Given the description of an element on the screen output the (x, y) to click on. 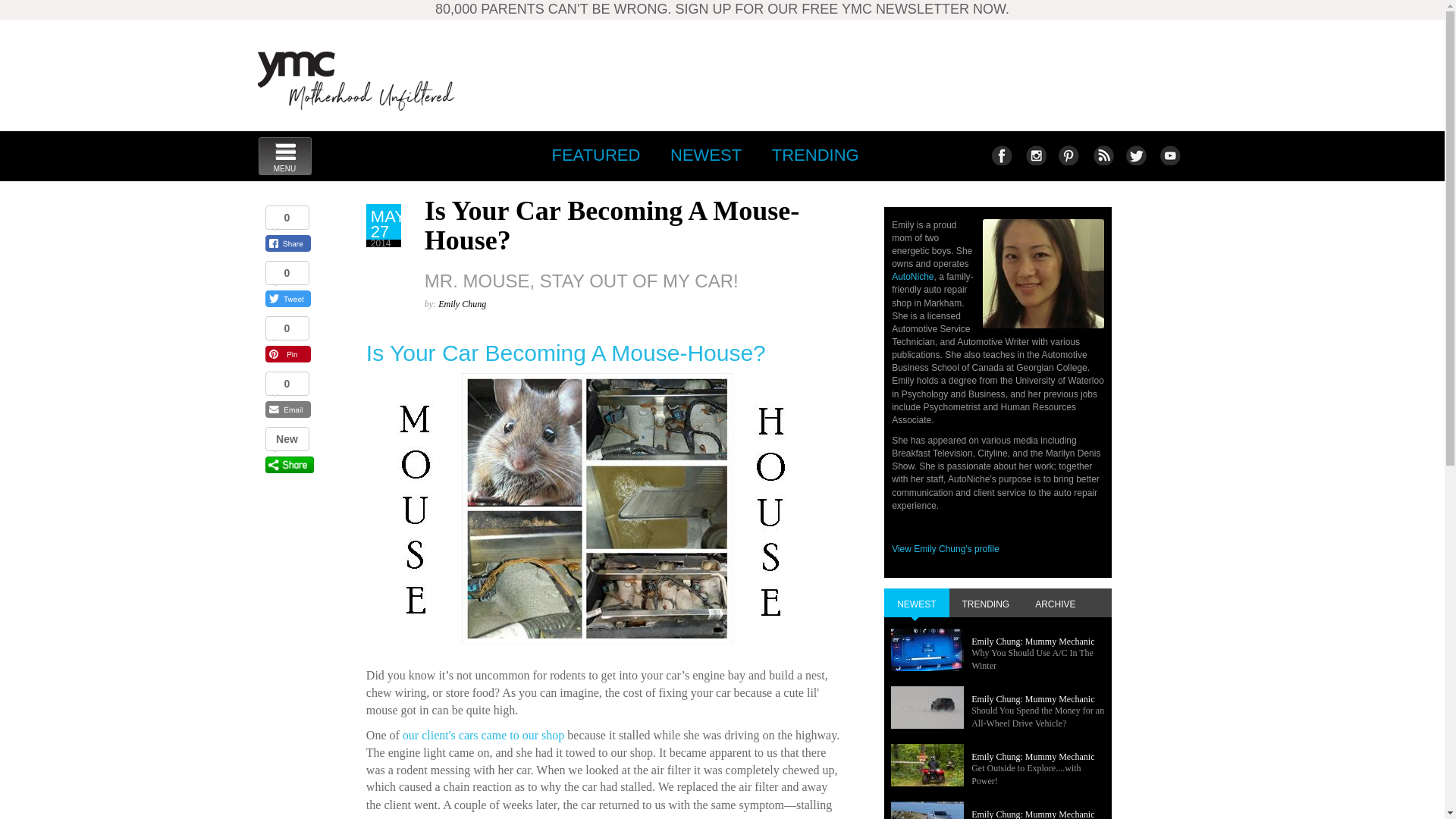
TRENDING (815, 155)
YouTube (1168, 154)
Twitter (1135, 154)
Instagram (1034, 154)
Facebook (1001, 154)
SEARCH (284, 156)
Home (591, 205)
Pinterest (355, 79)
FEATURED (1068, 154)
Skip to main content (595, 155)
NEWEST (1101, 154)
